Given the description of an element on the screen output the (x, y) to click on. 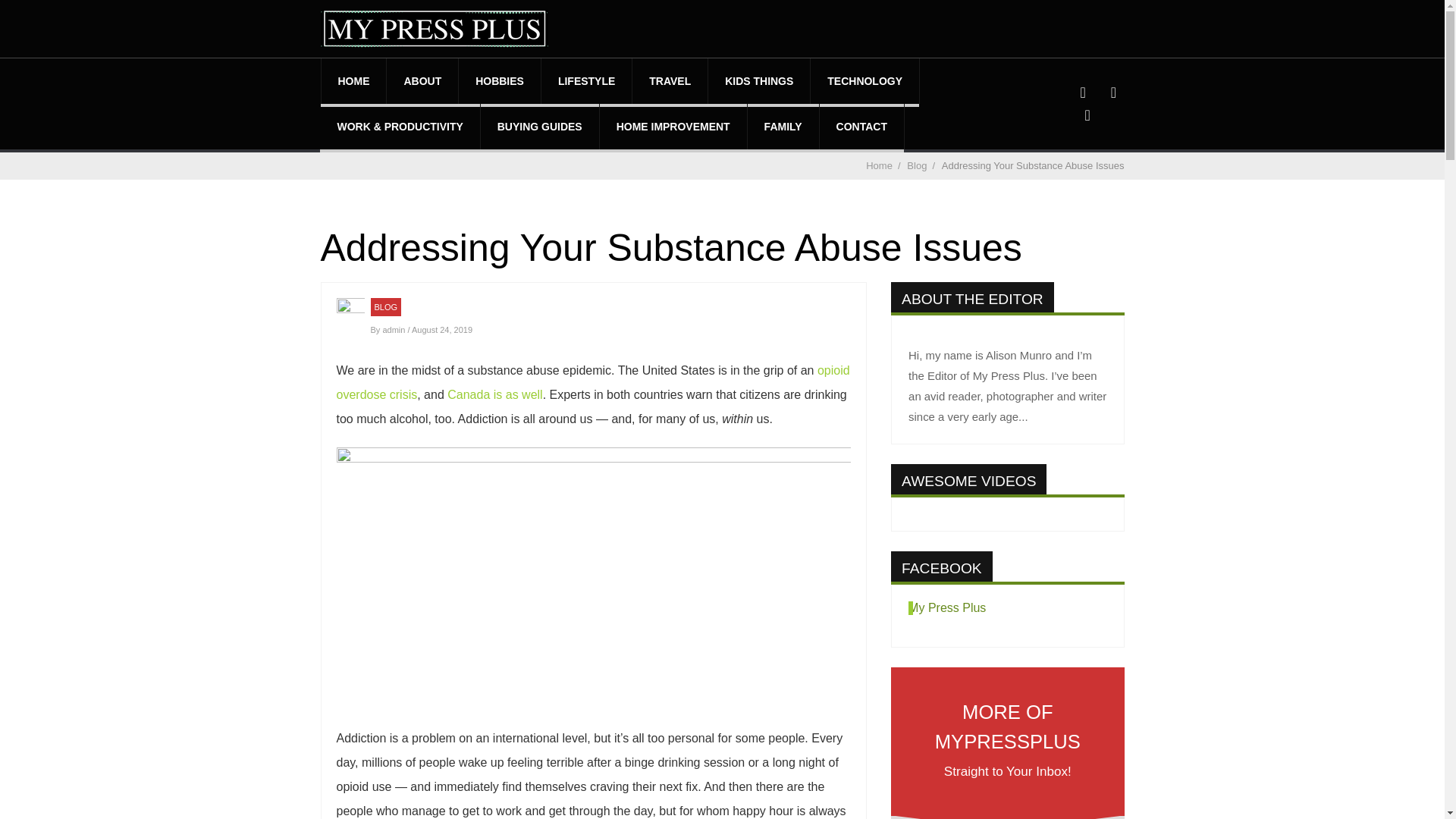
CONTACT (861, 126)
BLOG (385, 307)
KIDS THINGS (758, 81)
TRAVEL (669, 81)
LIFESTYLE (586, 81)
opioid overdose crisis (593, 382)
HOME IMPROVEMENT (672, 126)
FAMILY (783, 126)
TECHNOLOGY (864, 81)
Canada is as well (493, 394)
